Given the description of an element on the screen output the (x, y) to click on. 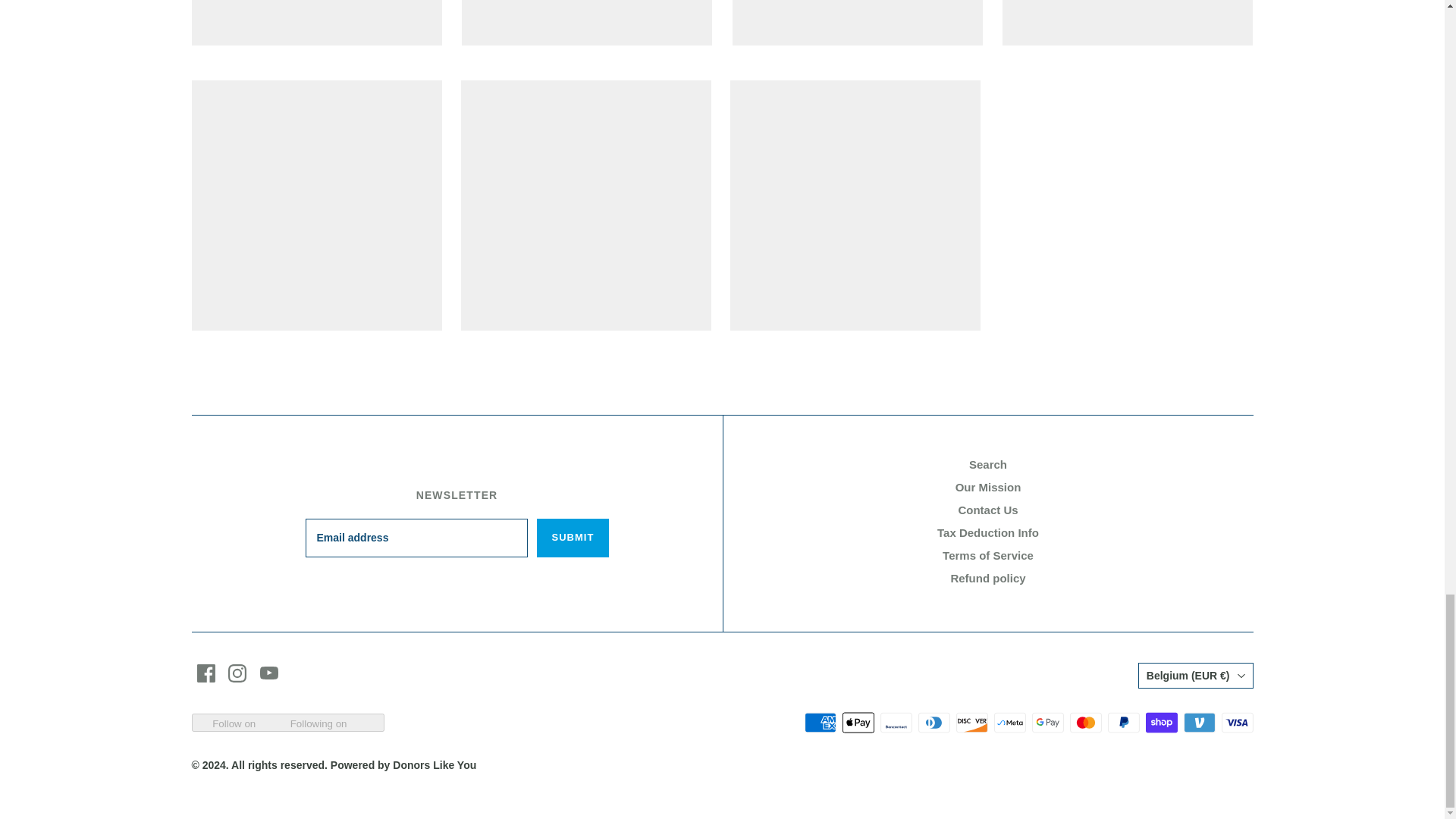
Apple Pay (857, 722)
Diners Club (933, 722)
Google Pay (1046, 722)
Discover (971, 722)
Meta Pay (1008, 722)
American Express (819, 722)
Bancontact (895, 722)
